Given the description of an element on the screen output the (x, y) to click on. 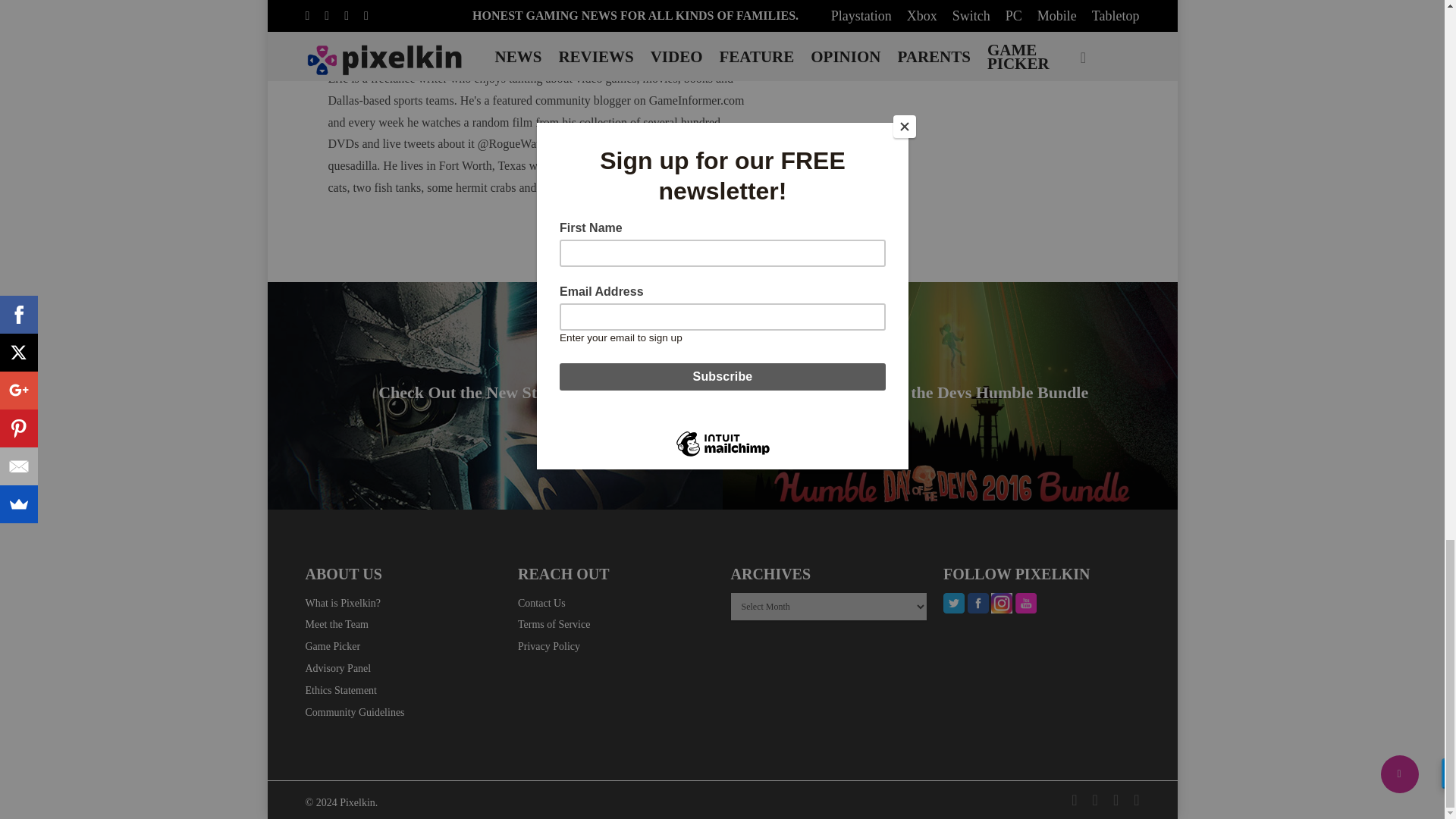
Posts by Eric Watson (522, 49)
